Given the description of an element on the screen output the (x, y) to click on. 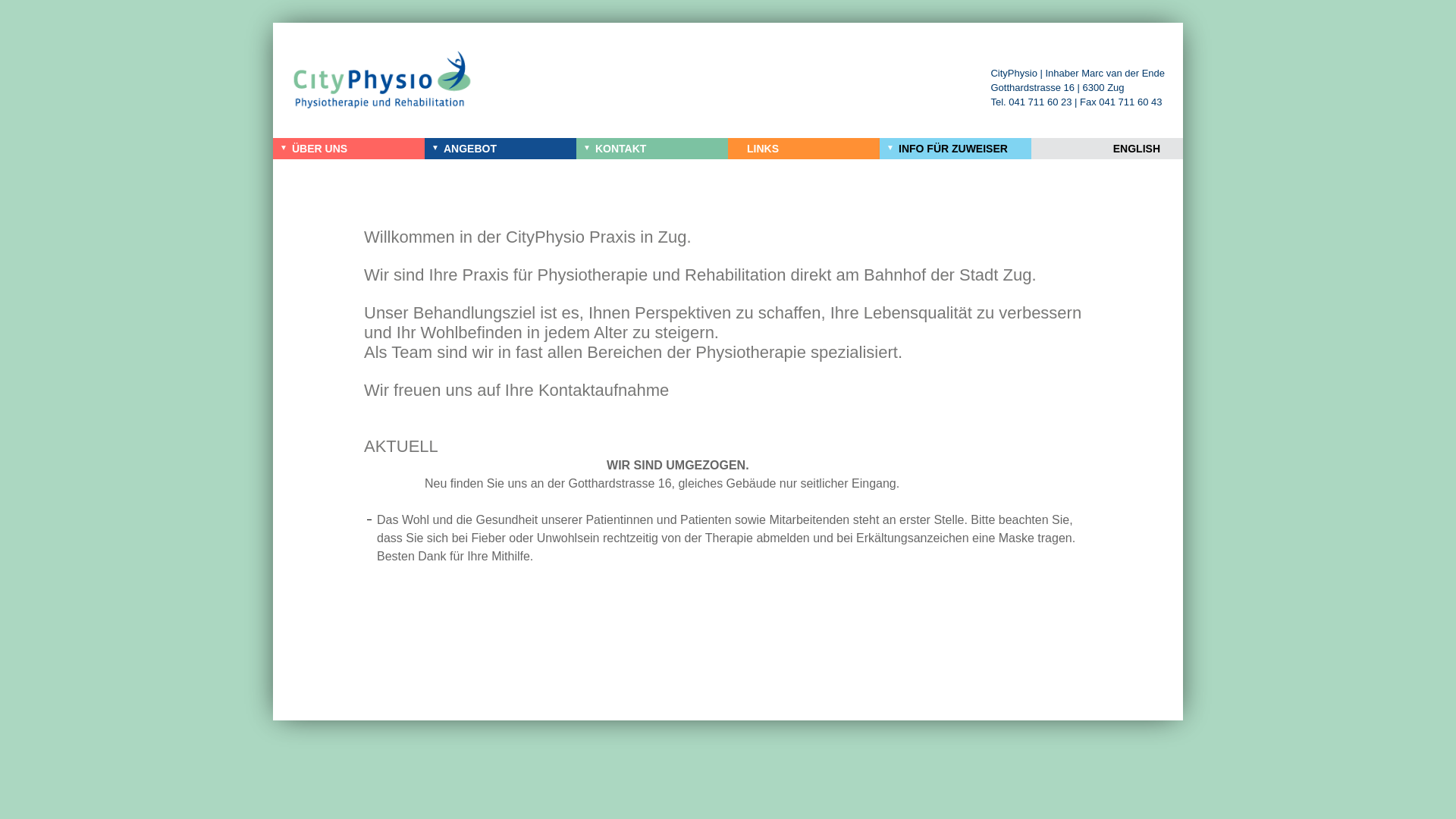
ENGLISH Element type: text (1107, 148)
LINKS Element type: text (803, 148)
ANGEBOT Element type: text (500, 148)
KONTAKT Element type: text (652, 148)
